Given the description of an element on the screen output the (x, y) to click on. 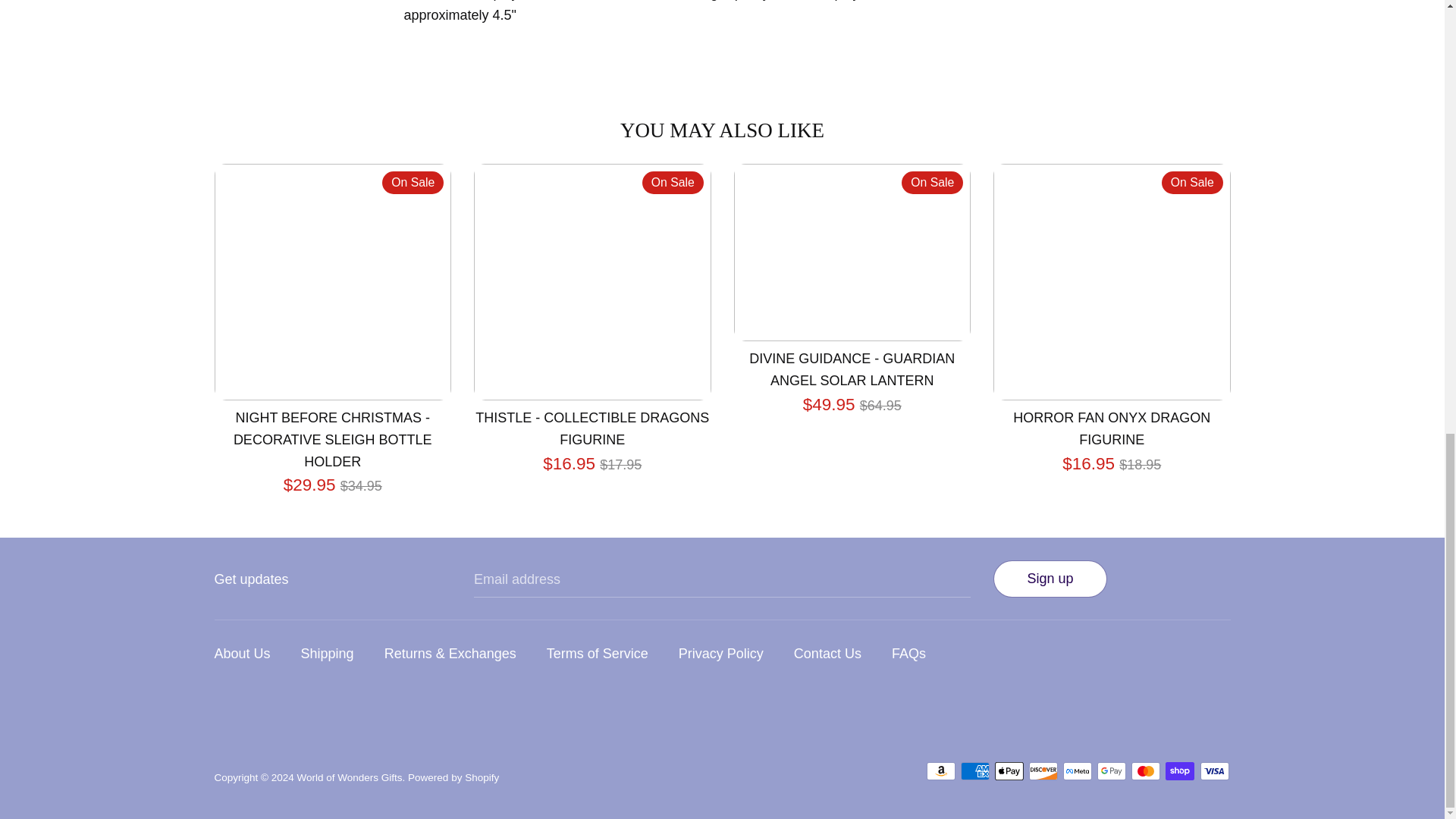
Discover (1043, 771)
Apple Pay (1008, 771)
Google Pay (1111, 771)
Visa (1213, 771)
Mastercard (1145, 771)
Amazon (940, 771)
American Express (975, 771)
Shop Pay (1179, 771)
Meta Pay (1077, 771)
